Given the description of an element on the screen output the (x, y) to click on. 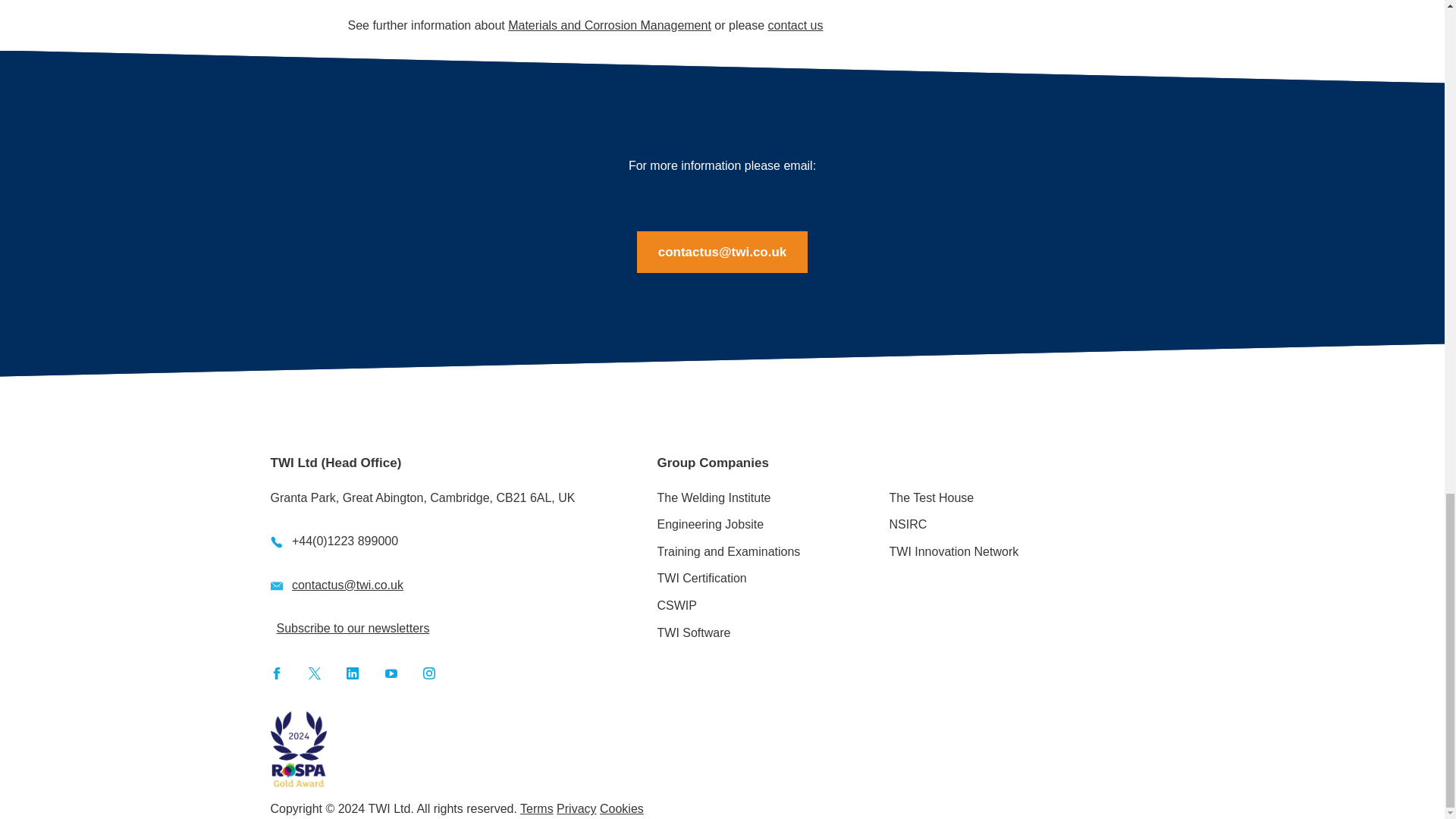
Contact Us (796, 24)
Subscribe to our newsletters (352, 627)
